Given the description of an element on the screen output the (x, y) to click on. 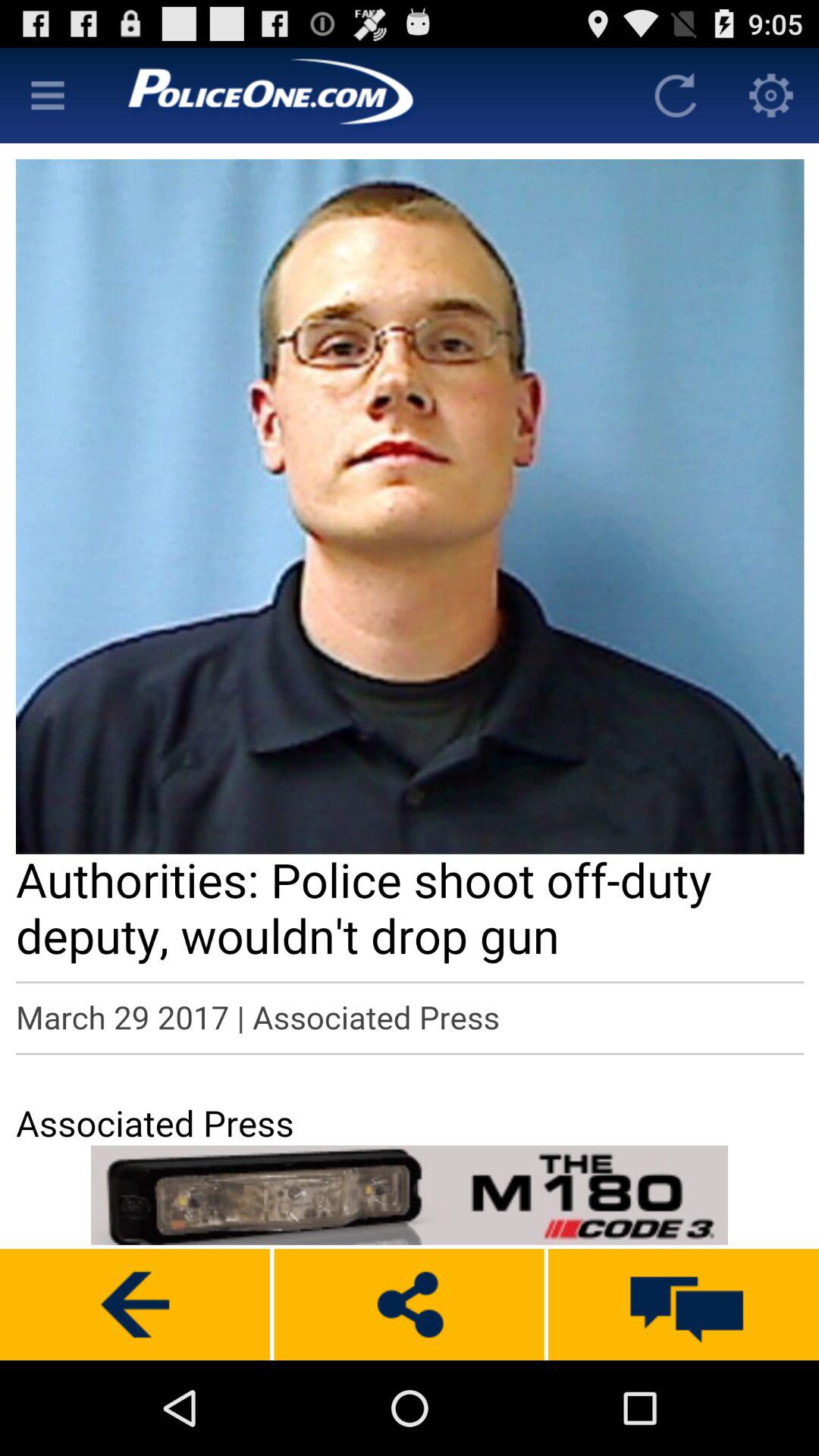
description (409, 642)
